Given the description of an element on the screen output the (x, y) to click on. 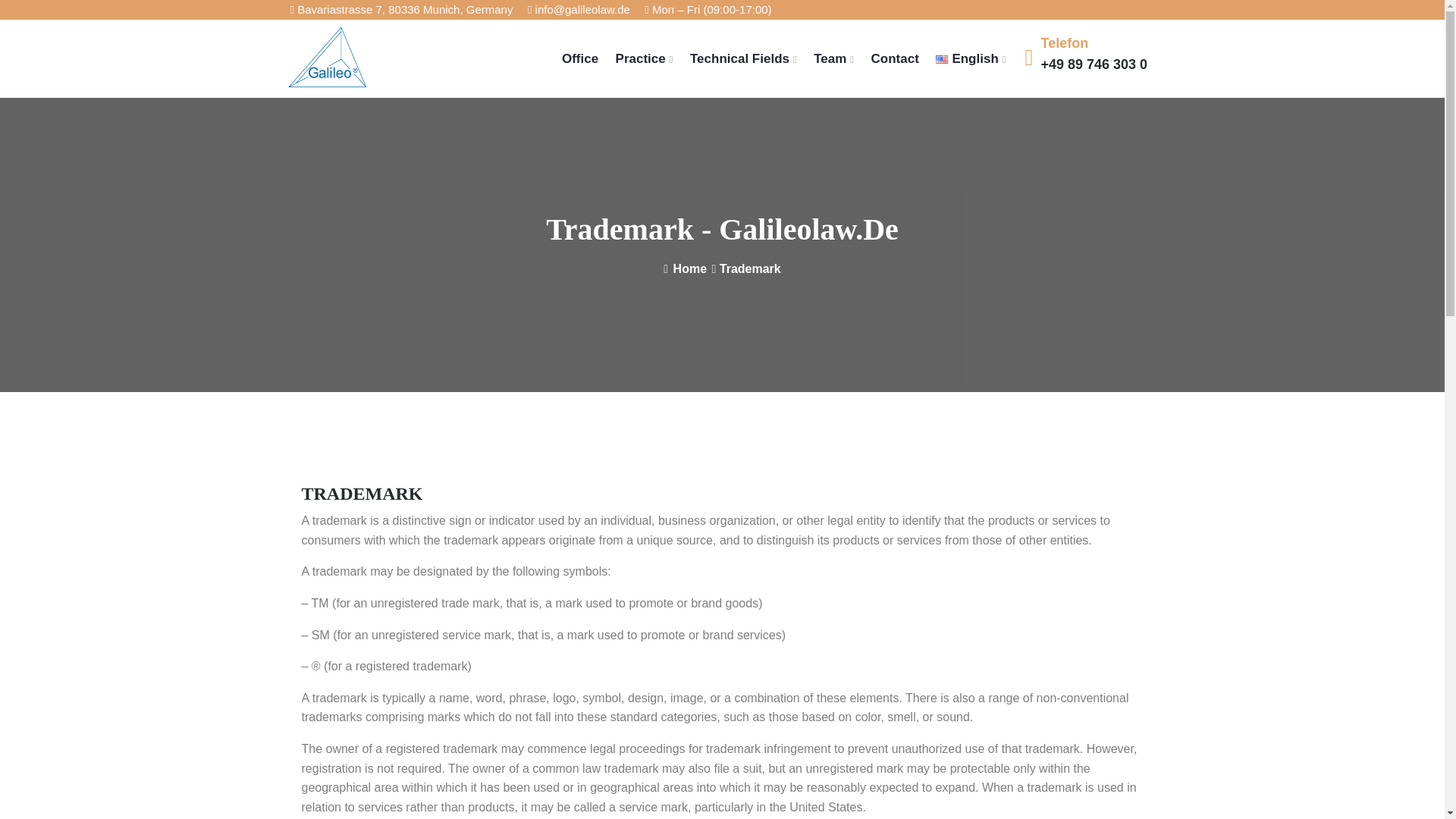
Team (833, 58)
Technical Fields (743, 58)
English (971, 58)
Contact (894, 58)
galileolaw.de (381, 57)
Practice (643, 58)
Bavariastrasse 7, 80336 Munich, Germany (400, 9)
Office (580, 58)
